Given the description of an element on the screen output the (x, y) to click on. 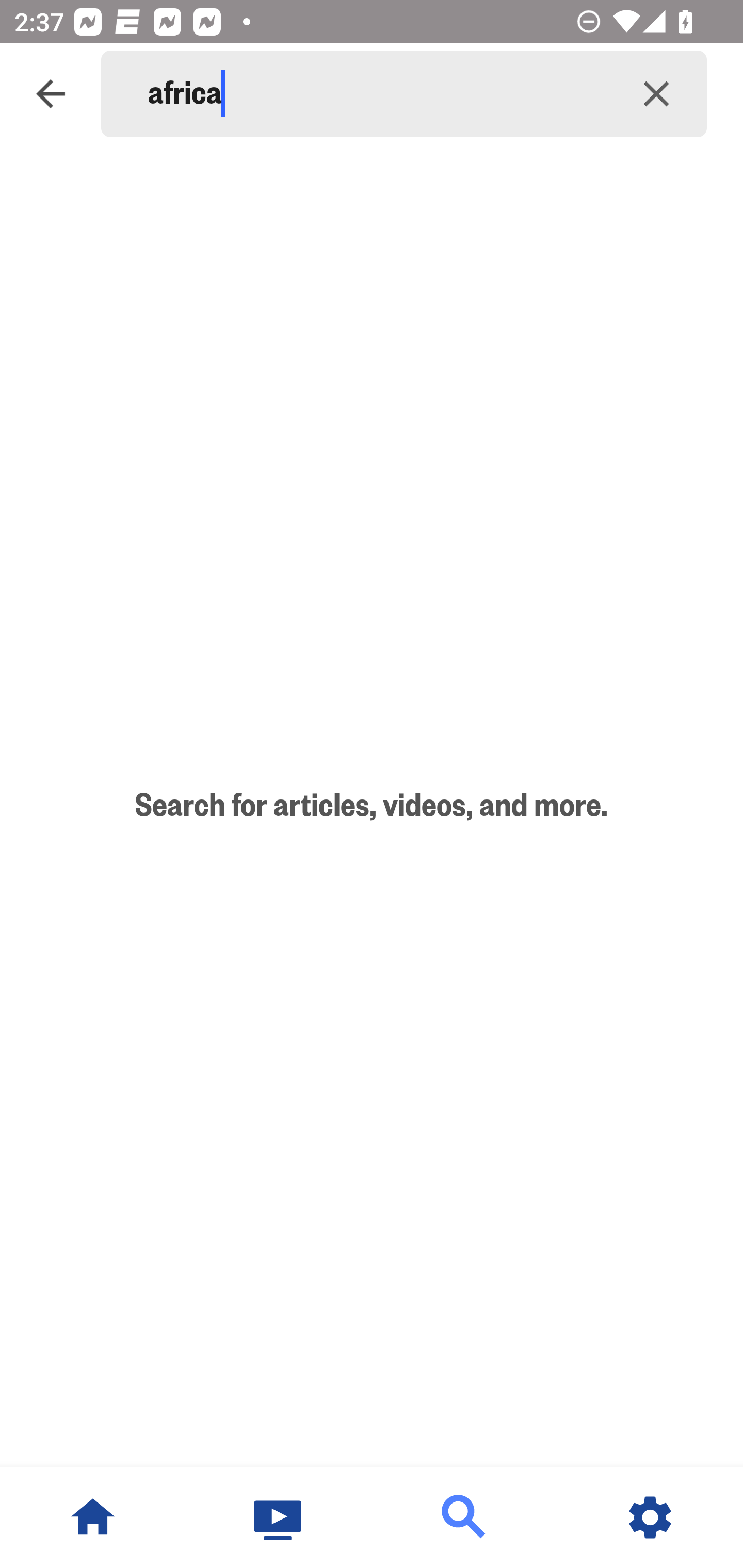
Navigate up (50, 93)
Clear query (656, 93)
africa (376, 94)
NBC News Home (92, 1517)
Watch (278, 1517)
Settings (650, 1517)
